Given the description of an element on the screen output the (x, y) to click on. 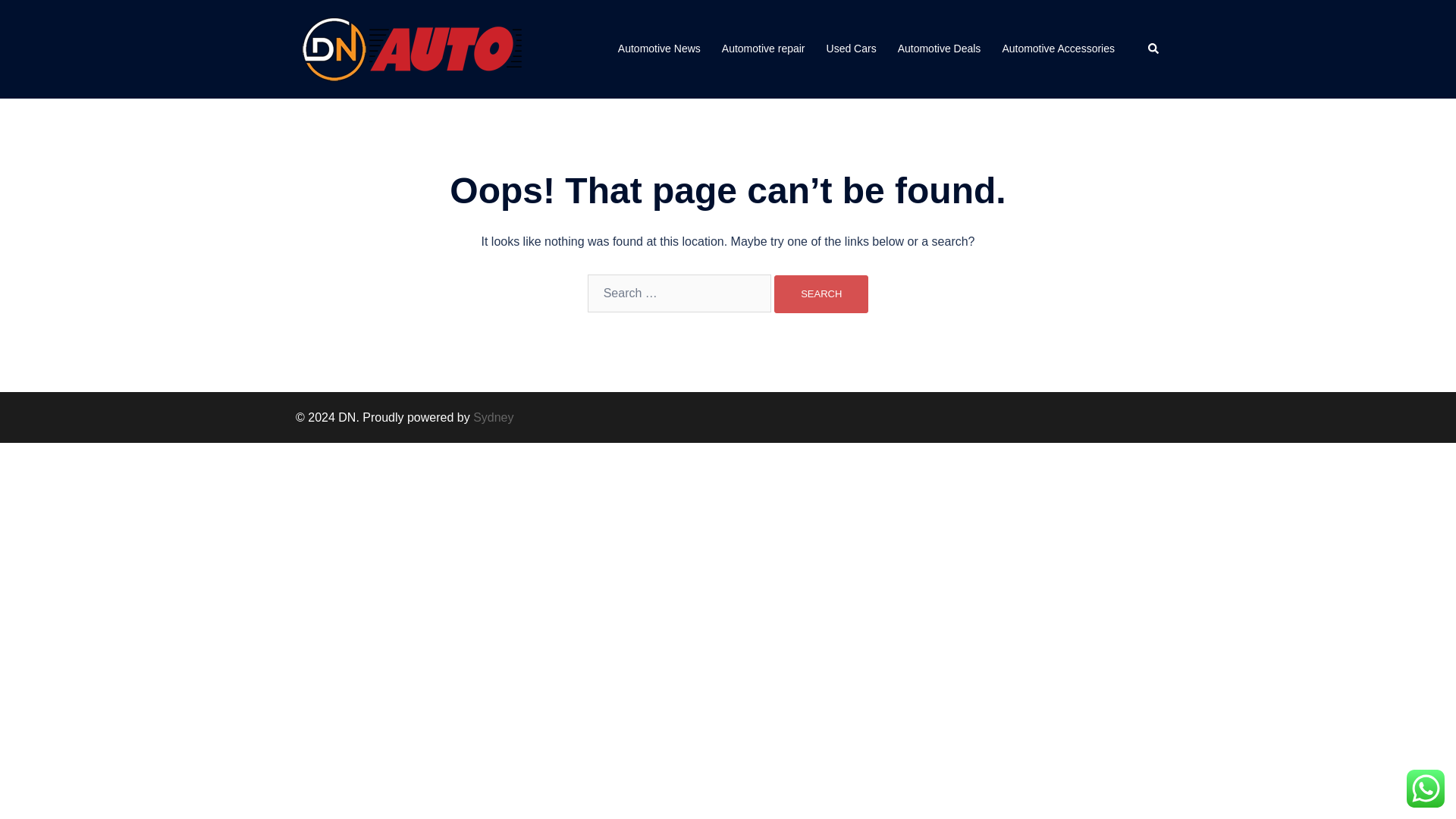
Automotive Deals (939, 49)
Automotive repair (763, 49)
Automotive News (658, 49)
Automotive Accessories (1058, 49)
Search (820, 293)
Used Cars (851, 49)
Search (1154, 49)
Search (820, 293)
Search (820, 293)
DN (408, 47)
